Given the description of an element on the screen output the (x, y) to click on. 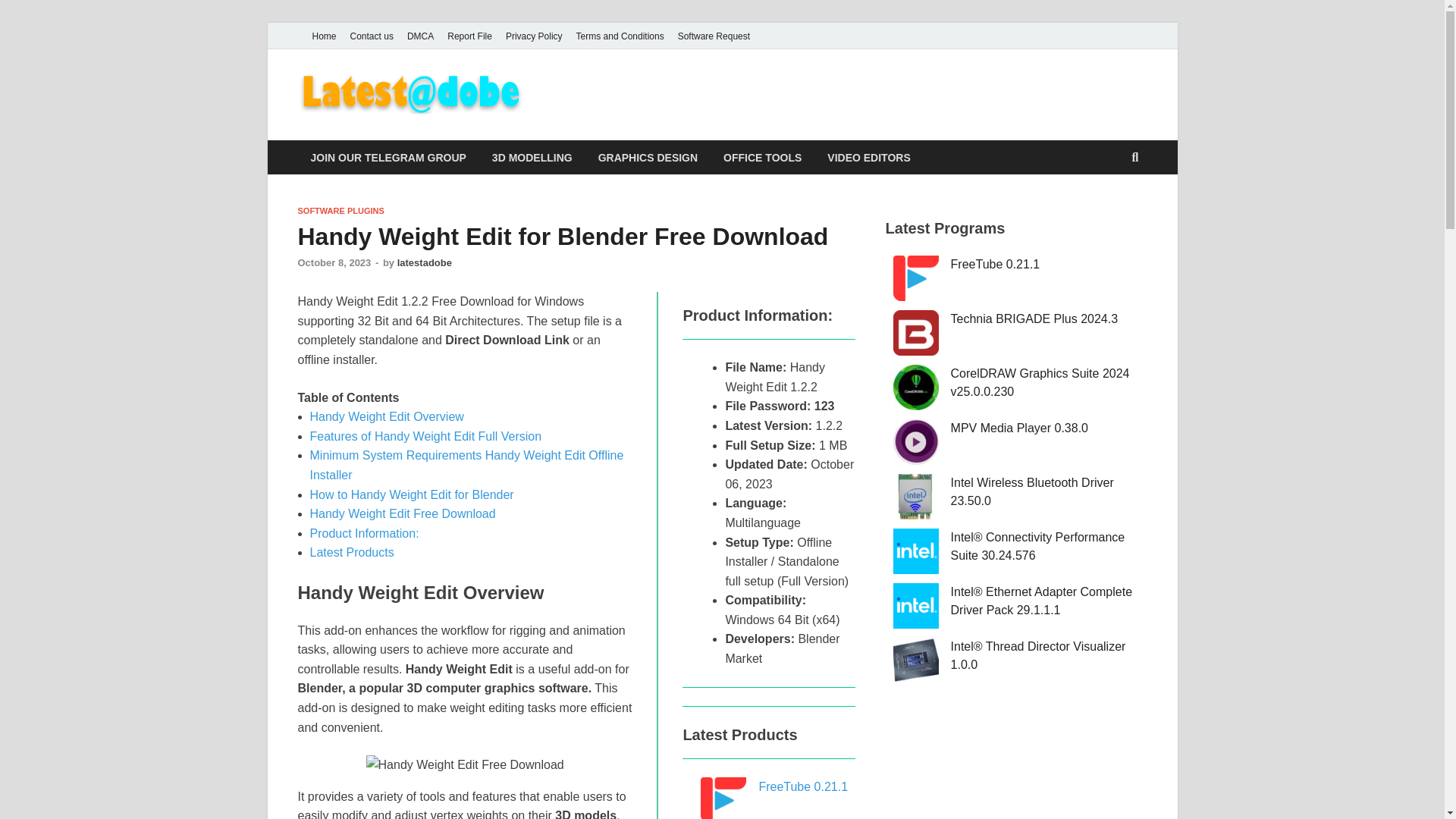
JOIN OUR TELEGRAM GROUP (388, 157)
Handy Weight Edit Free Download (401, 513)
Terms and Conditions (620, 35)
Handy Weight Edit Free Download (465, 764)
Contact us (371, 35)
Privacy Policy (534, 35)
Product Information: (363, 533)
GRAPHICS DESIGN (647, 157)
VIDEO EDITORS (868, 157)
October 8, 2023 (334, 262)
Software Request (714, 35)
DMCA (420, 35)
How to Handy Weight Edit for Blender (410, 494)
Report File (470, 35)
Home (323, 35)
